Given the description of an element on the screen output the (x, y) to click on. 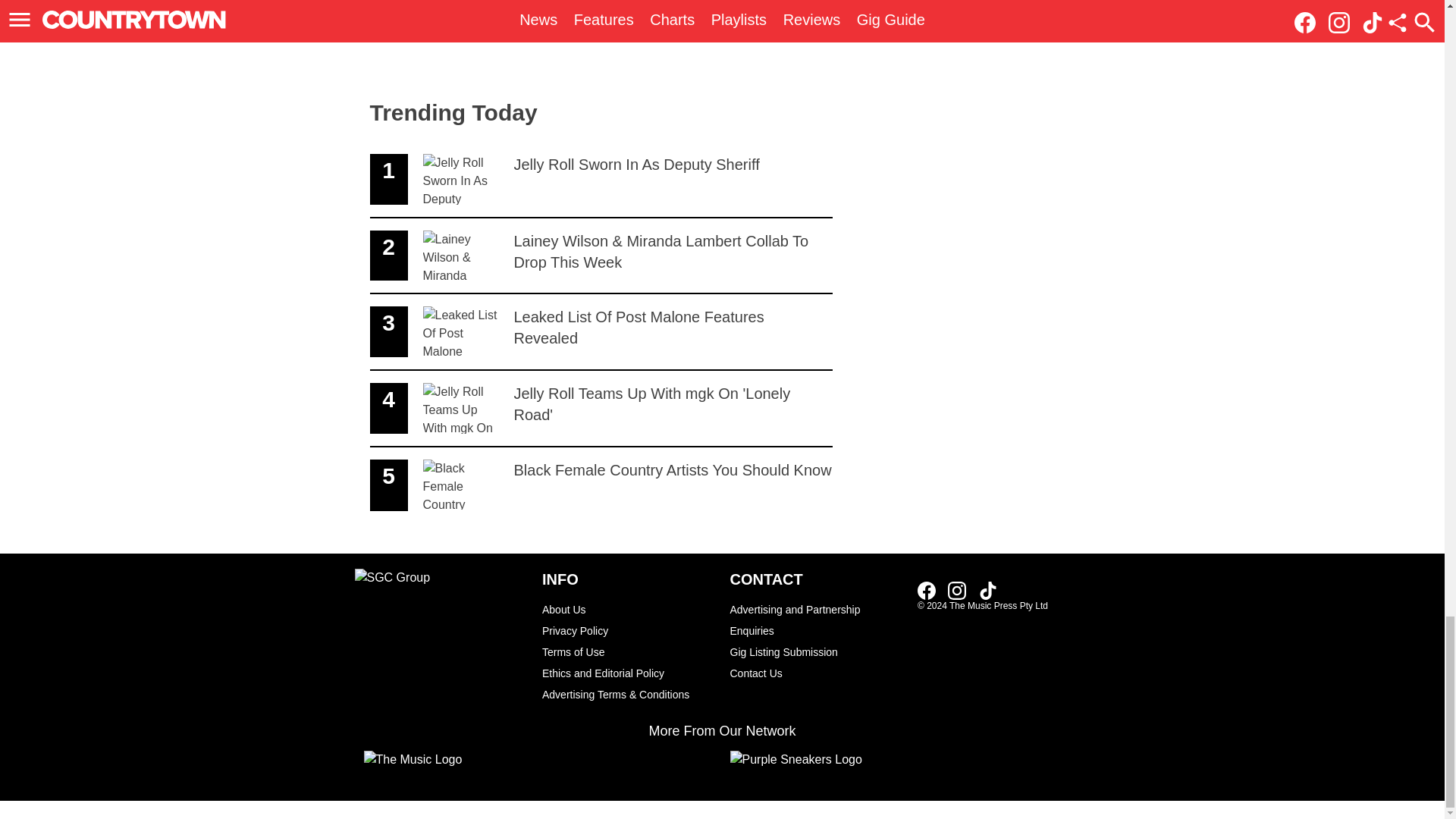
About Us (600, 332)
Link to our TikTok (627, 608)
Link to our Facebook (600, 409)
Advertising and Partnership Enquiries (987, 589)
Gig Listing Submission (930, 589)
Link to our Facebook (815, 619)
Contact Us (600, 485)
Link to our Instagram (815, 651)
Privacy Policy (926, 590)
Link to our TikTok (815, 672)
Terms of Use (600, 179)
